Given the description of an element on the screen output the (x, y) to click on. 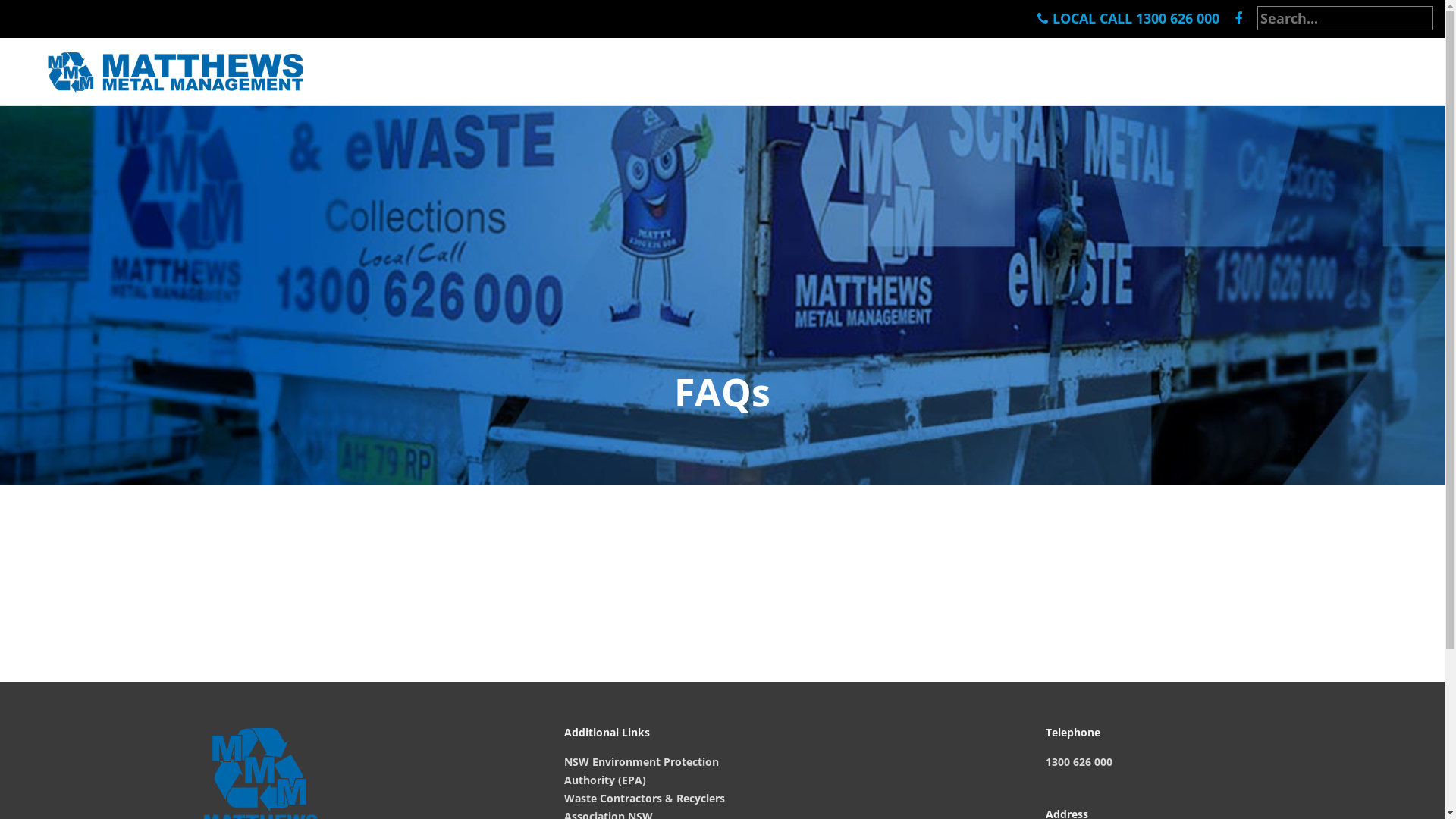
FAQS Element type: text (1204, 71)
COMMERCIAL SERVICES Element type: text (1073, 71)
WHAT WE BUY Element type: text (923, 71)
ABOUT Element type: text (1281, 71)
CONTACT Element type: text (1361, 71)
NSW Environment Protection Authority (EPA) Element type: text (641, 770)
